Given the description of an element on the screen output the (x, y) to click on. 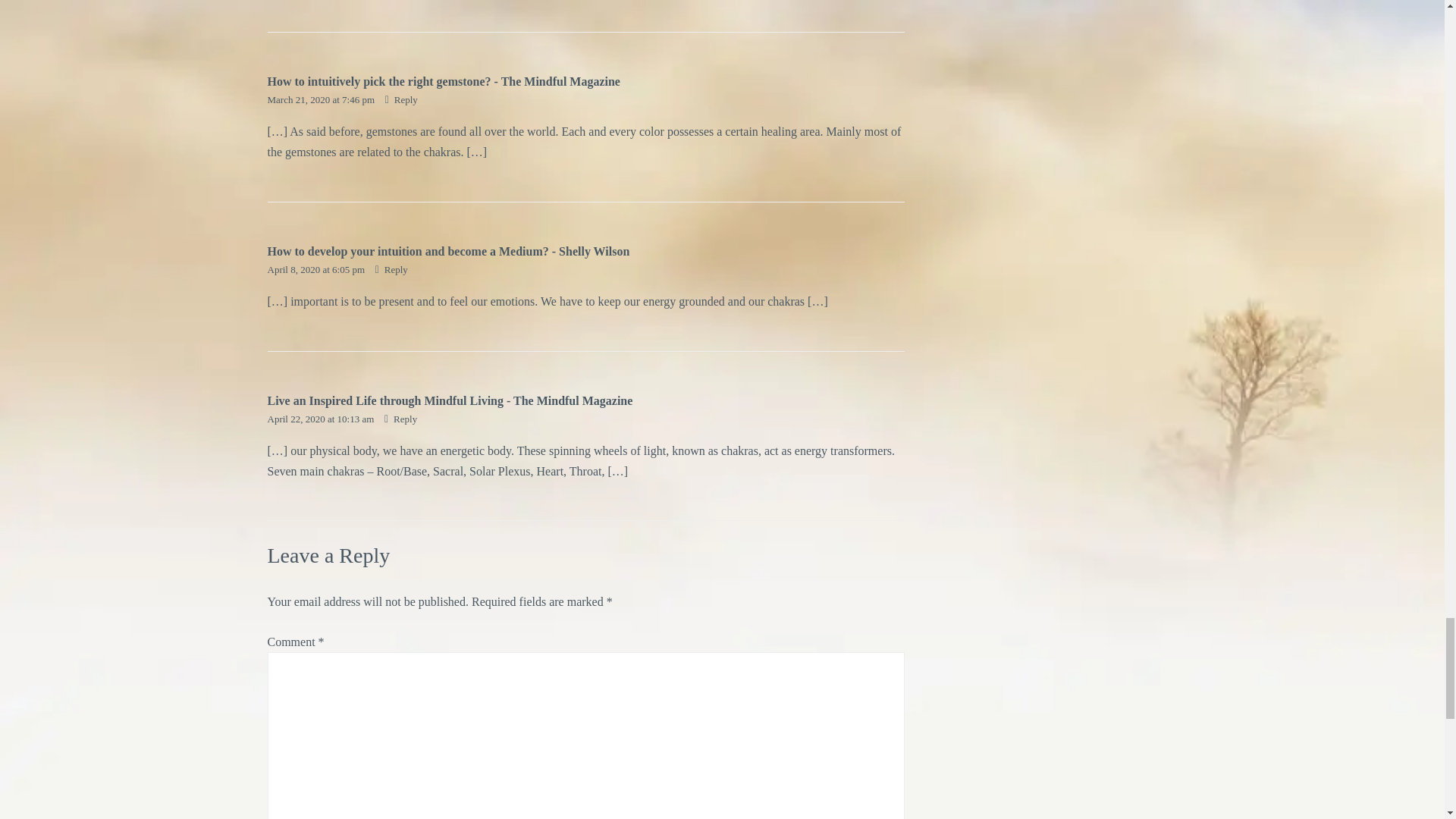
Reply (401, 99)
April 8, 2020 at 6:05 pm (316, 269)
Reply (391, 269)
April 22, 2020 at 10:13 am (320, 419)
March 21, 2020 at 7:46 pm (321, 99)
Reply (400, 419)
